Given the description of an element on the screen output the (x, y) to click on. 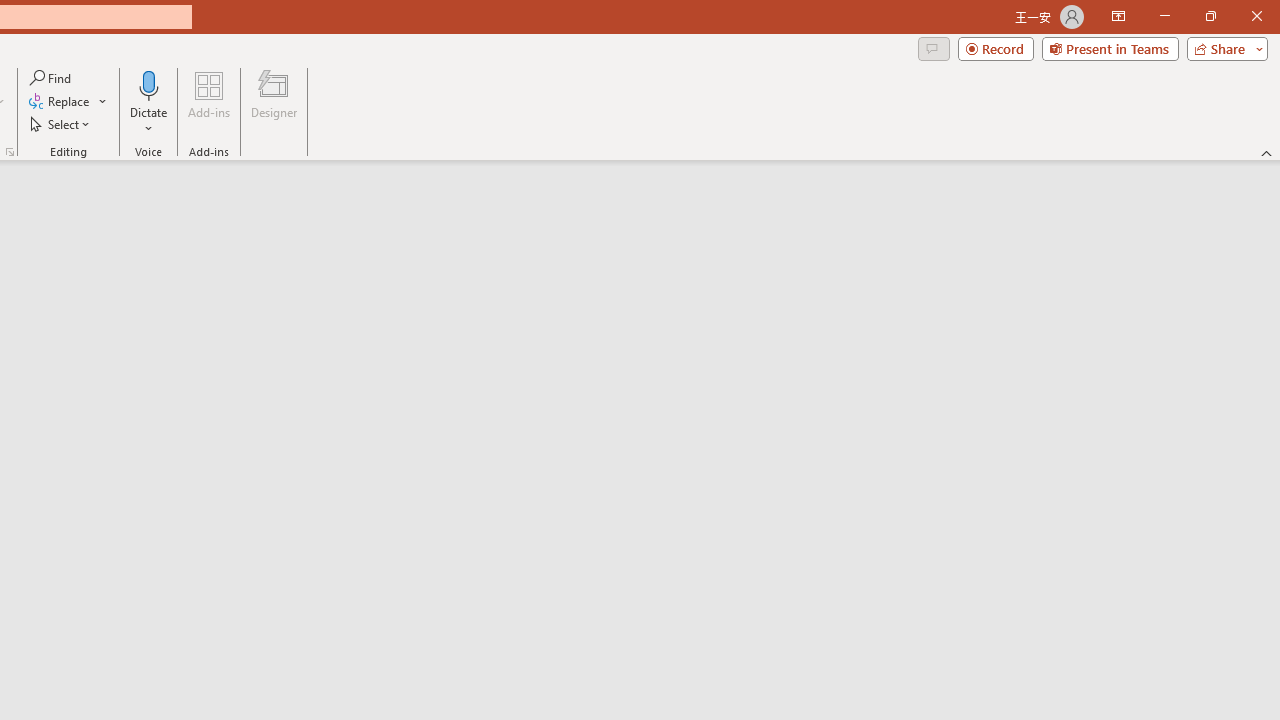
Find... (51, 78)
